Given the description of an element on the screen output the (x, y) to click on. 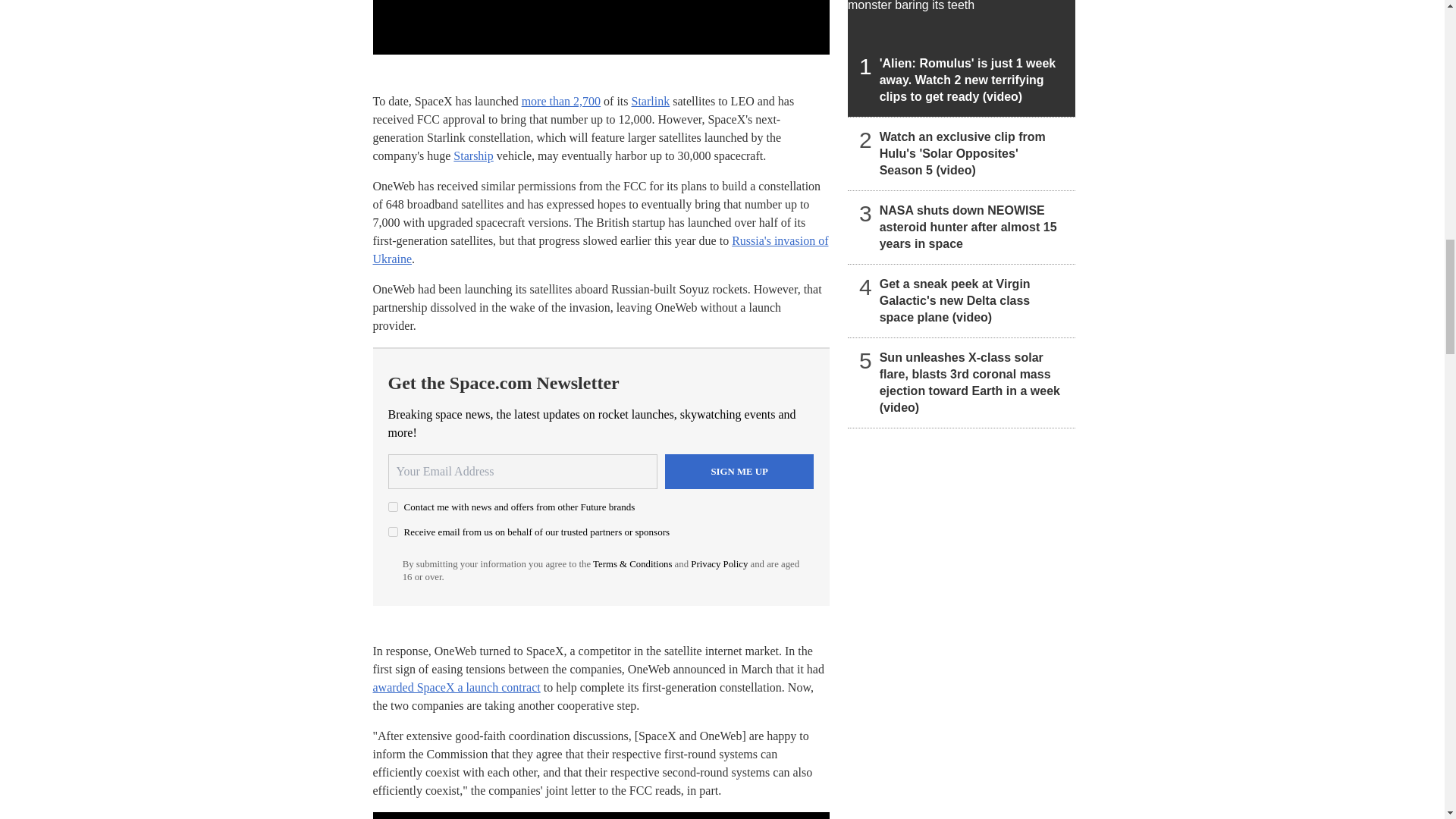
on (392, 506)
on (392, 532)
Sign me up (739, 471)
